Given the description of an element on the screen output the (x, y) to click on. 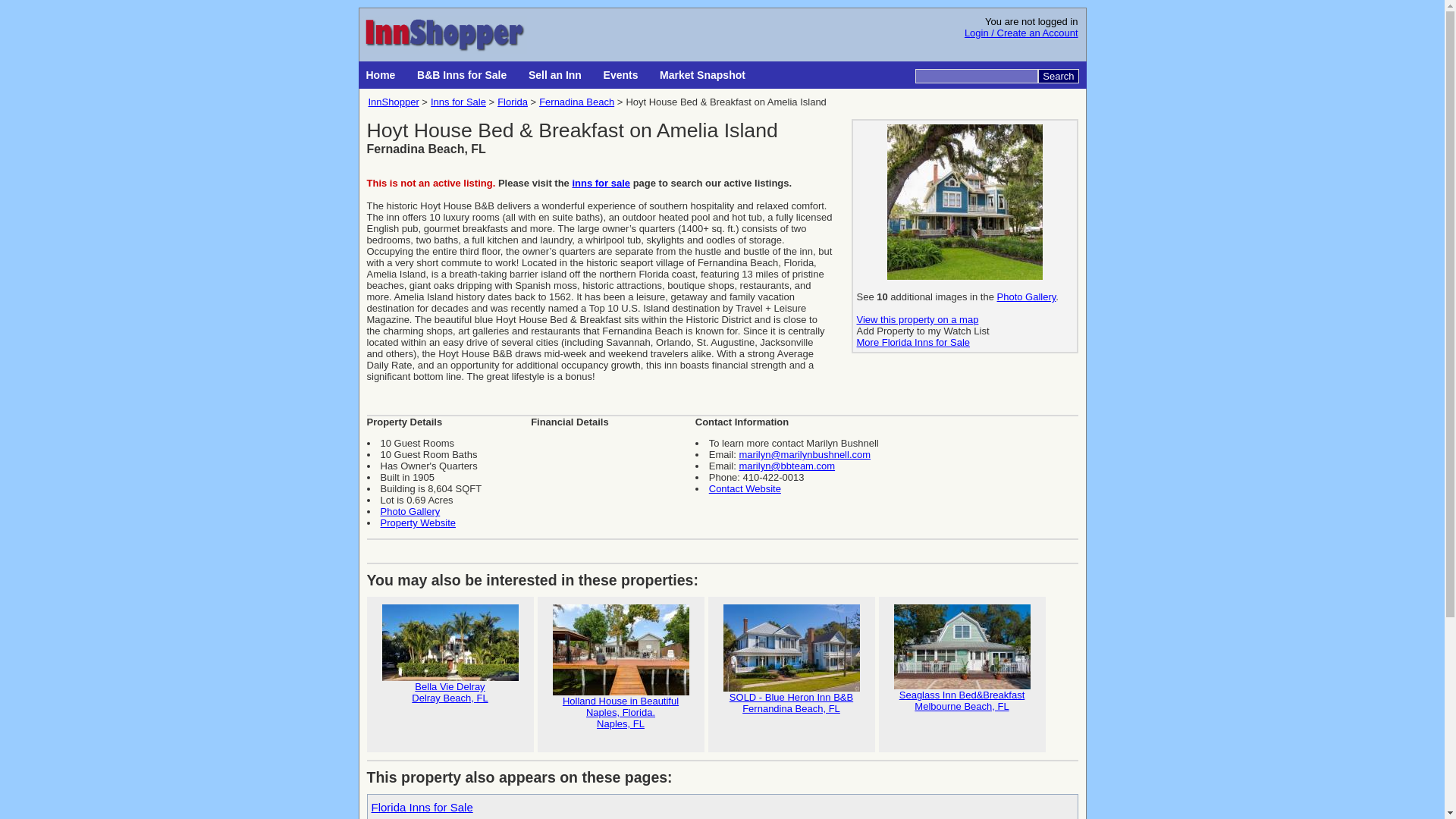
Market Snapshot (704, 74)
Property Website (417, 522)
Florida (512, 101)
InnShopper (393, 101)
Events (450, 674)
Contact Website (622, 74)
Add Property to my Watch List (744, 488)
Inns for Sale (923, 330)
